Given the description of an element on the screen output the (x, y) to click on. 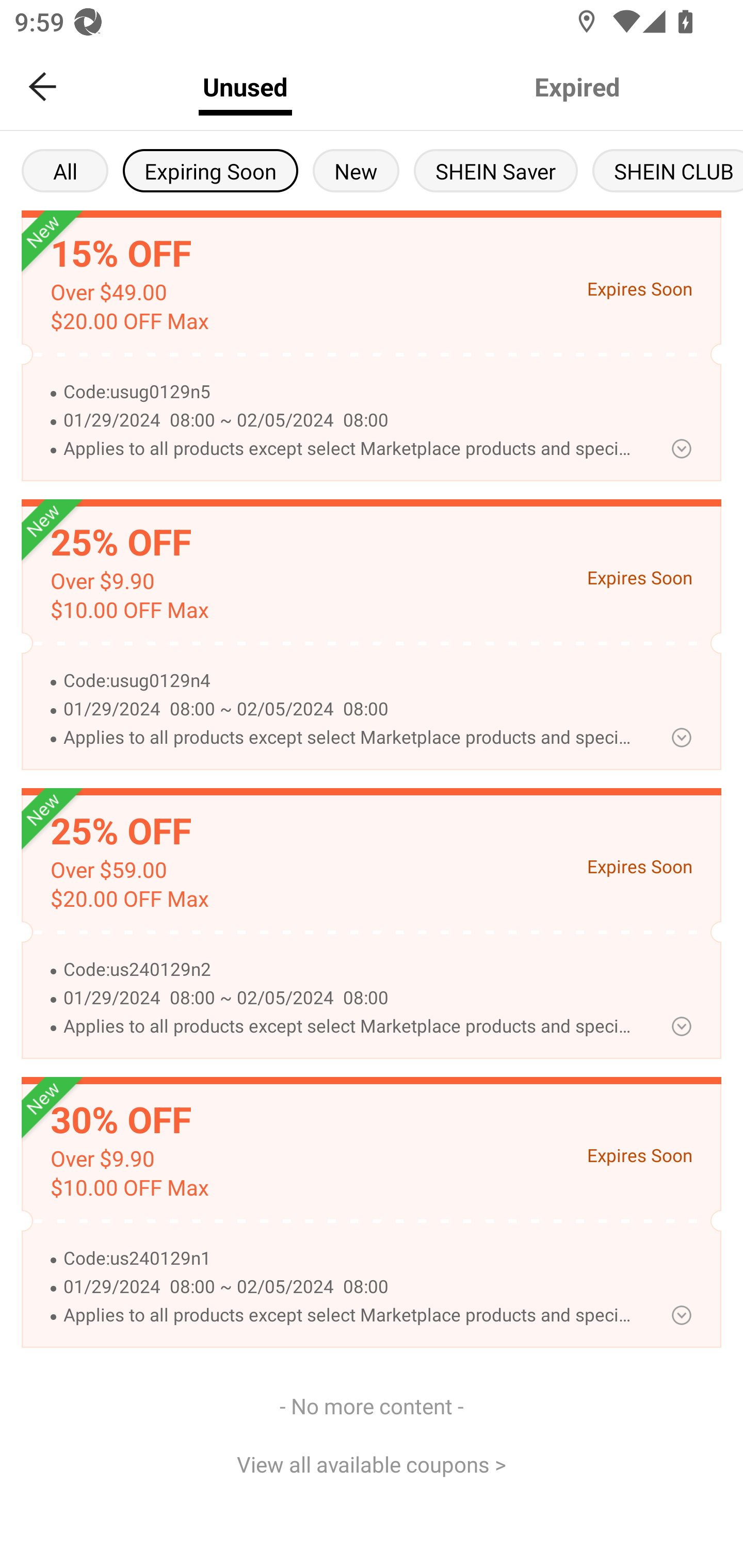
Unused (244, 86)
Expired (576, 86)
All (64, 170)
Expiring Soon (209, 170)
New (355, 170)
SHEIN Saver (495, 170)
SHEIN CLUB (667, 170)
$20.00 OFF Max (129, 320)
Code:usug0129n5 (350, 391)
01/29/2024  08:00 ~ 02/05/2024  08:00 (350, 420)
Pack up (681, 448)
$10.00 OFF Max (129, 609)
Code:usug0129n4 (350, 681)
01/29/2024  08:00 ~ 02/05/2024  08:00 (350, 709)
Pack up (681, 737)
$20.00 OFF Max (129, 898)
Code:us240129n2 (350, 969)
01/29/2024  08:00 ~ 02/05/2024  08:00 (350, 997)
Pack up (681, 1026)
$10.00 OFF Max (129, 1188)
Code:us240129n1 (350, 1259)
01/29/2024  08:00 ~ 02/05/2024  08:00 (350, 1287)
Pack up (681, 1315)
View all available coupons > (371, 1463)
